Given the description of an element on the screen output the (x, y) to click on. 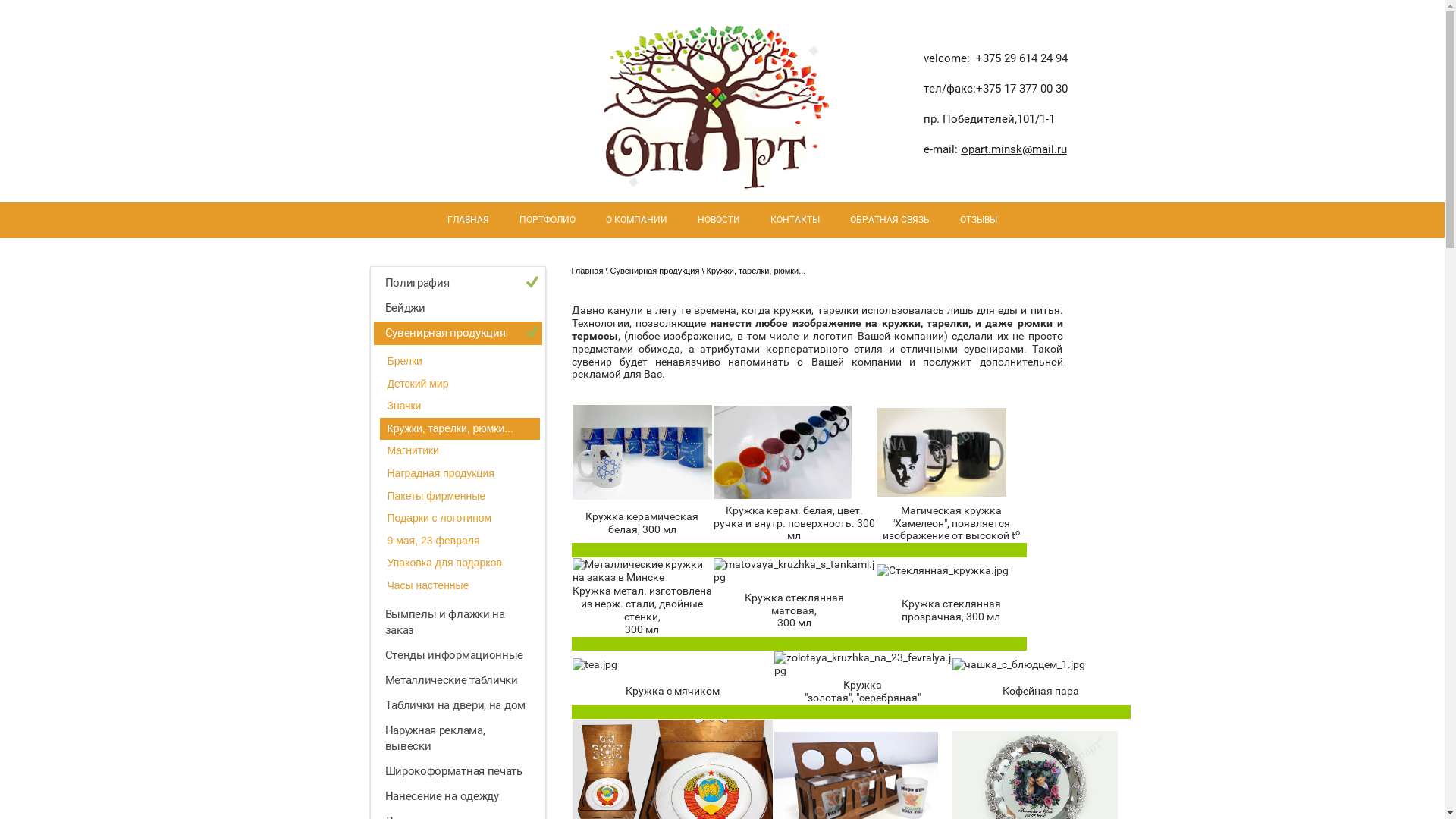
+375 17 377 00 30 Element type: text (1020, 88)
opart.minsk@mail.ru Element type: text (1013, 149)
+375 29 614 24 94 Element type: text (1020, 58)
